Given the description of an element on the screen output the (x, y) to click on. 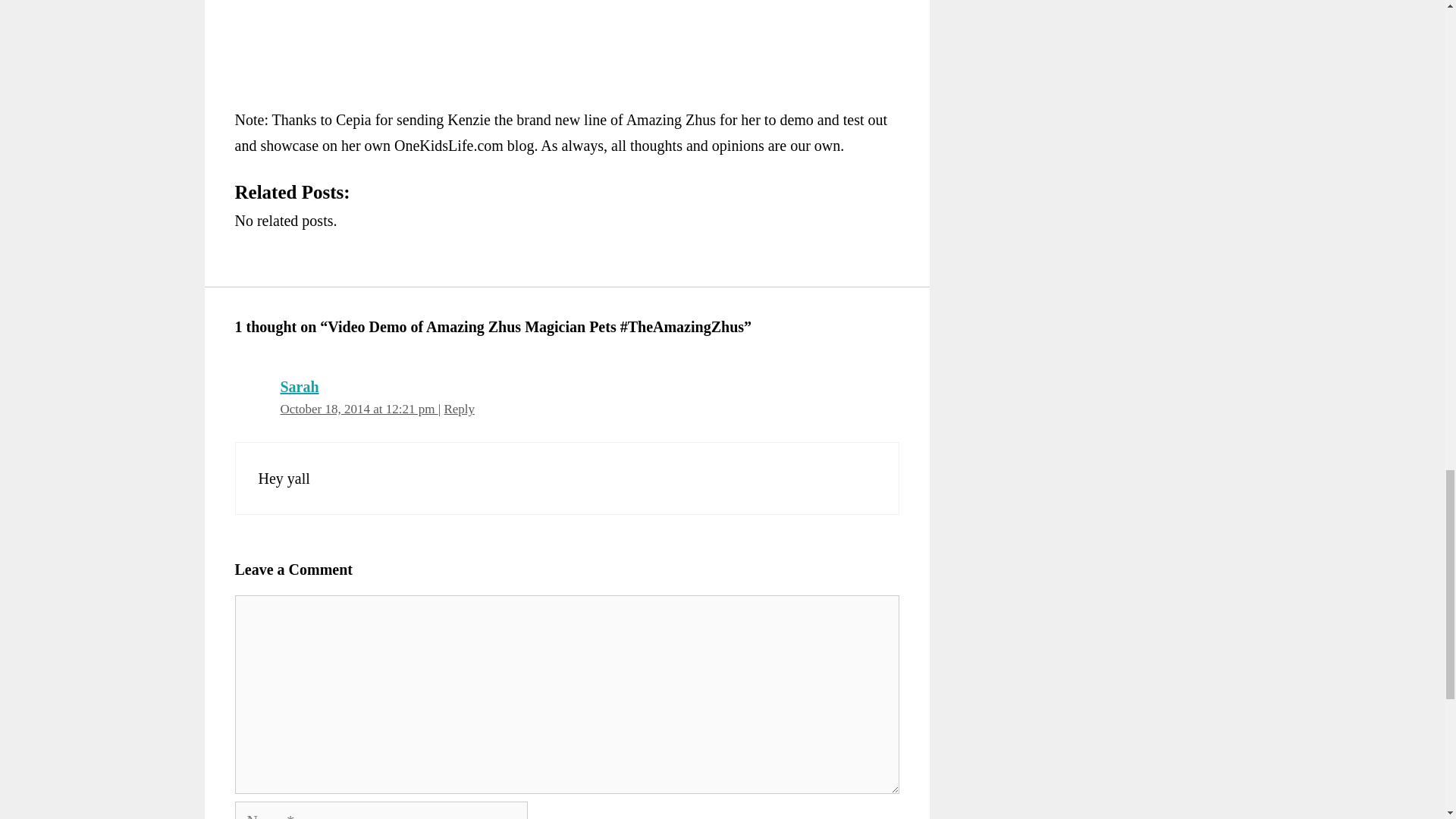
October 18, 2014 at 12:21 pm (359, 409)
Reply (459, 409)
Sarah (299, 386)
